Given the description of an element on the screen output the (x, y) to click on. 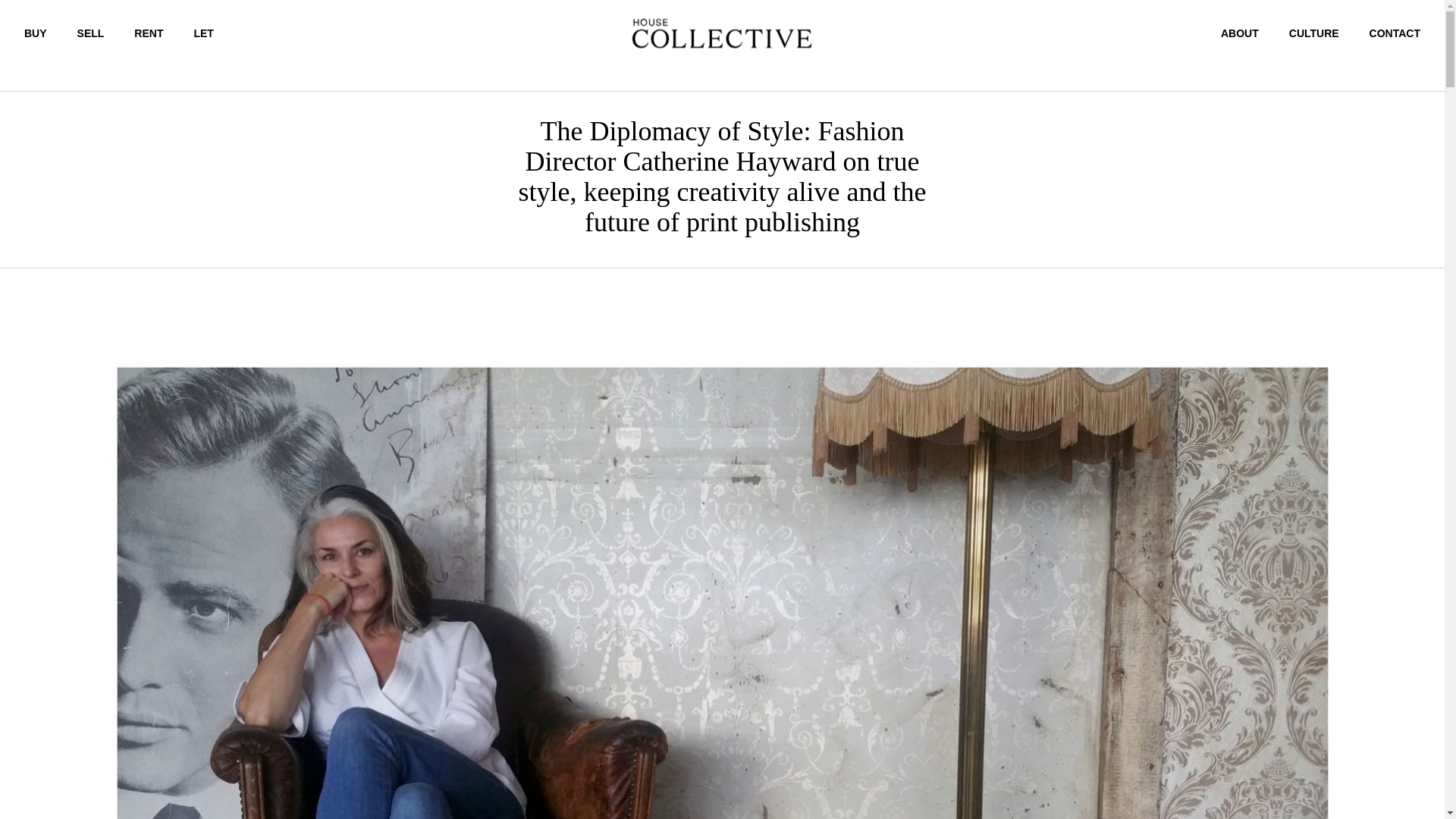
BUY (35, 33)
ABOUT (1240, 32)
CONTACT (1395, 32)
CULTURE (1313, 32)
RENT (148, 33)
SELL (90, 33)
LET (202, 33)
